Given the description of an element on the screen output the (x, y) to click on. 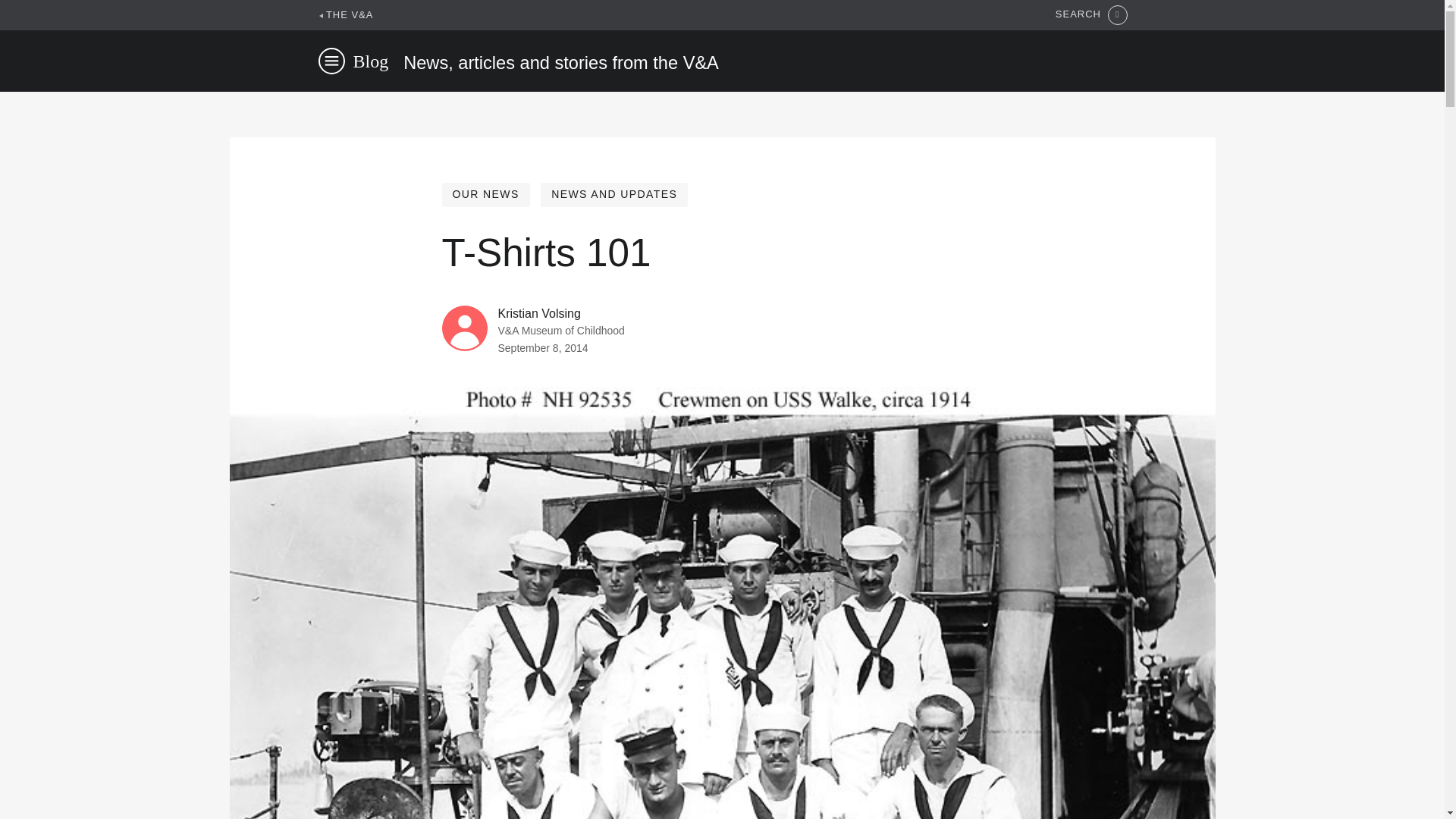
Blog (370, 60)
OUR NEWS (485, 194)
SEARCH (1090, 15)
NEWS AND UPDATES (613, 194)
Posts by Kristian Volsing (538, 313)
Kristian Volsing (538, 313)
